Given the description of an element on the screen output the (x, y) to click on. 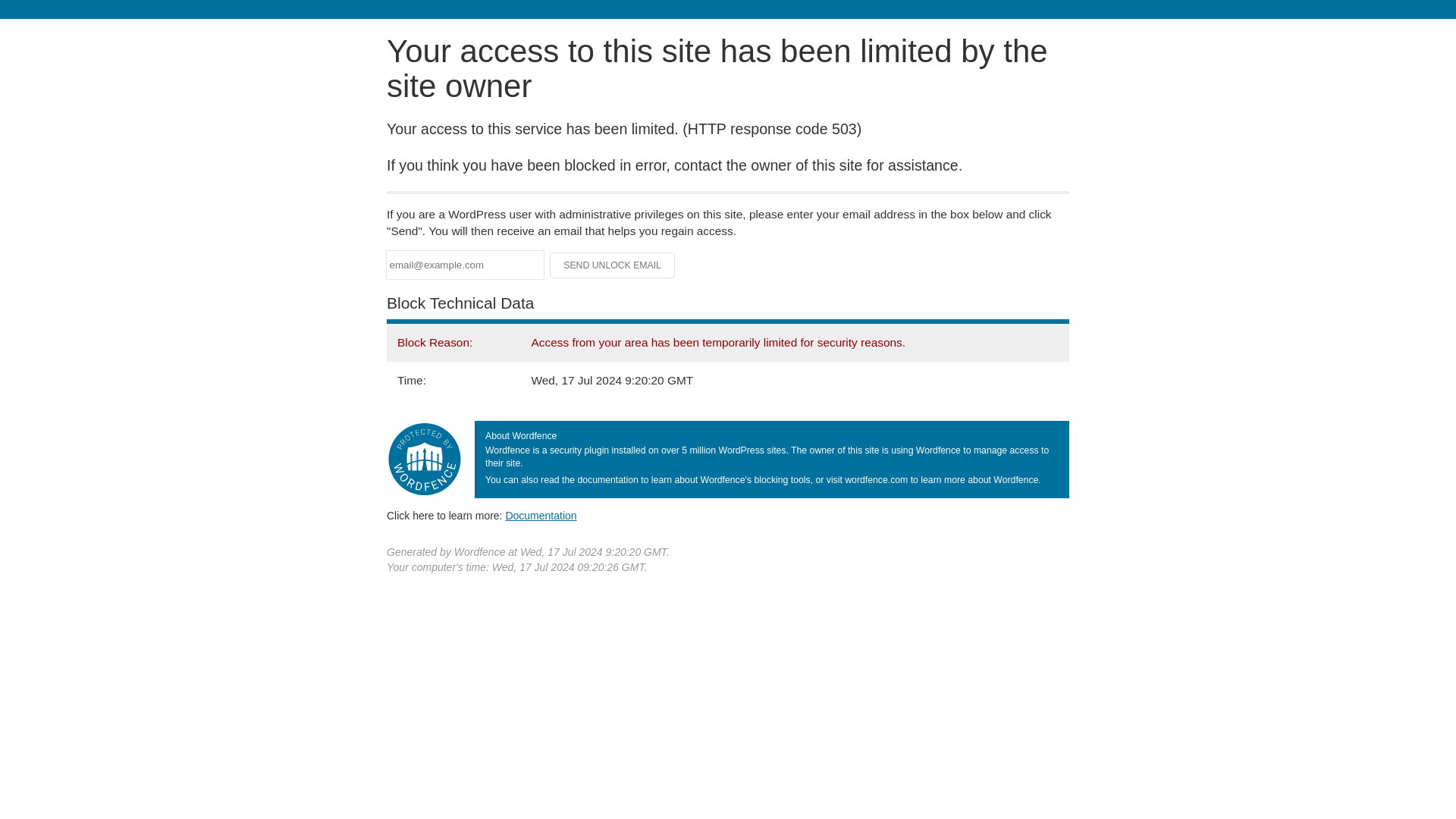
Send Unlock Email (612, 265)
Documentation (540, 515)
Send Unlock Email (612, 265)
